Given the description of an element on the screen output the (x, y) to click on. 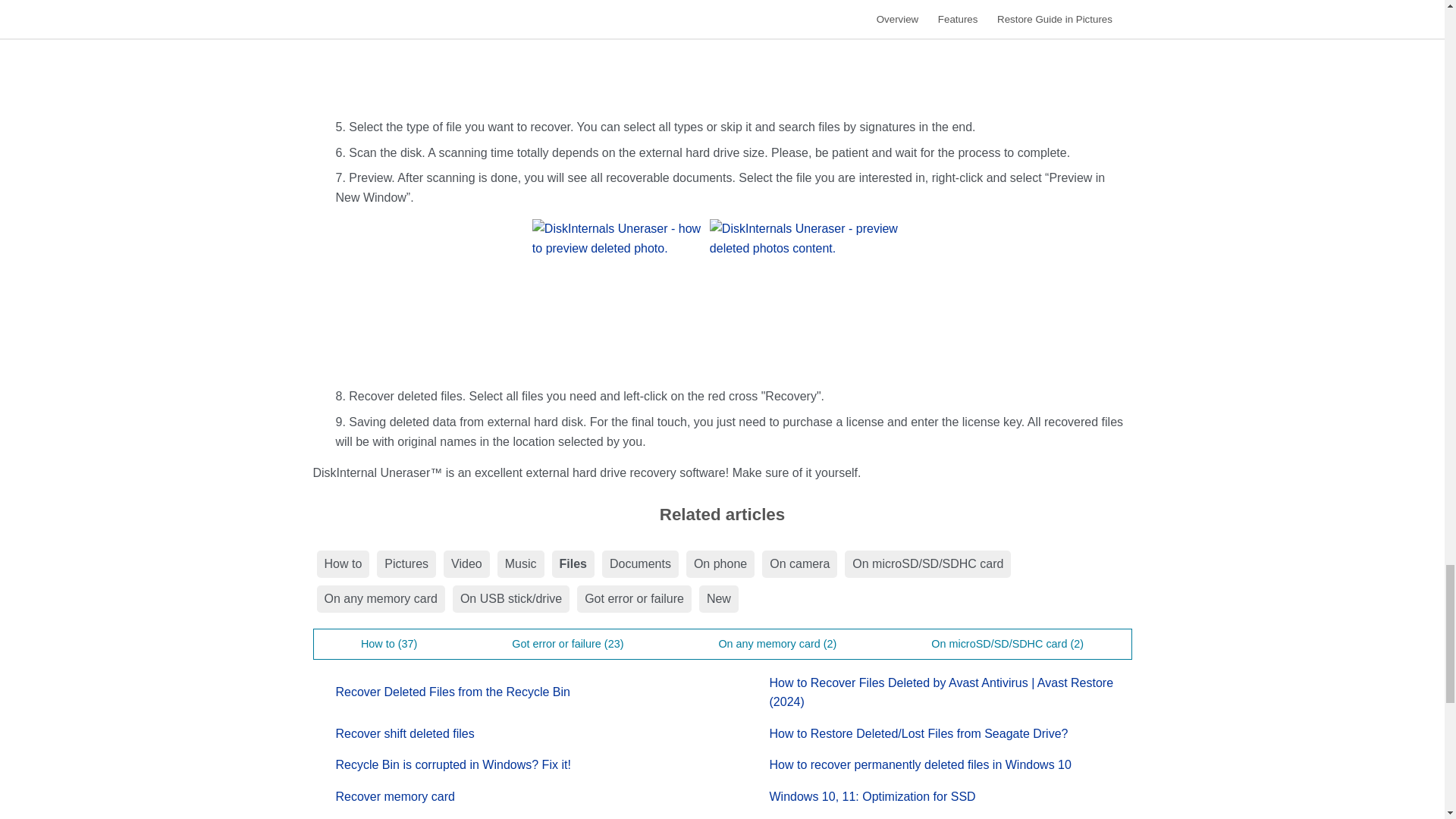
How to (343, 564)
Video (466, 564)
Pictures (406, 564)
Documents (640, 564)
Music (520, 564)
On phone (719, 564)
Files (572, 564)
